Given the description of an element on the screen output the (x, y) to click on. 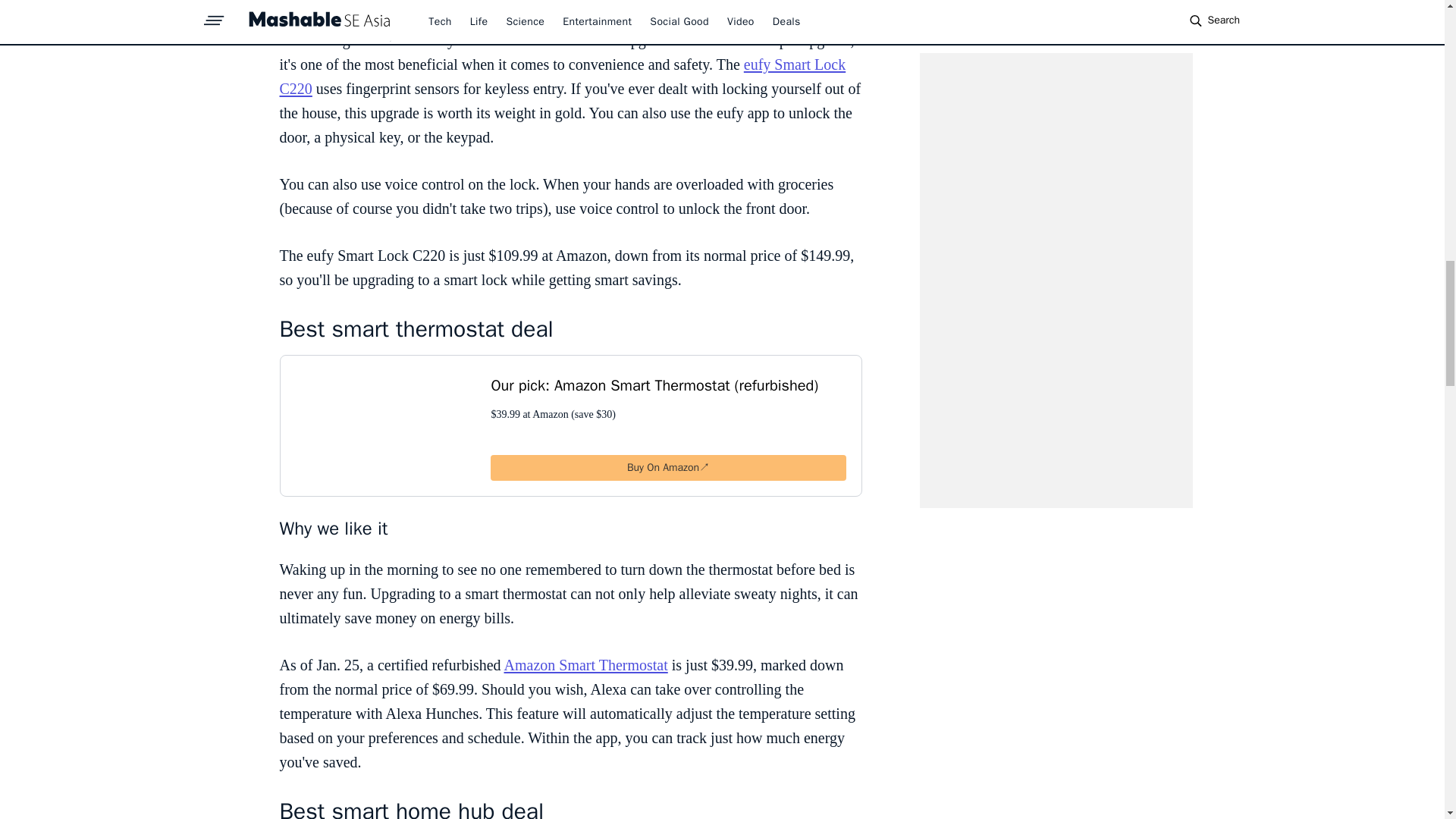
eufy Smart Lock C220 (562, 76)
Amazon Smart Thermostat (585, 664)
